Given the description of an element on the screen output the (x, y) to click on. 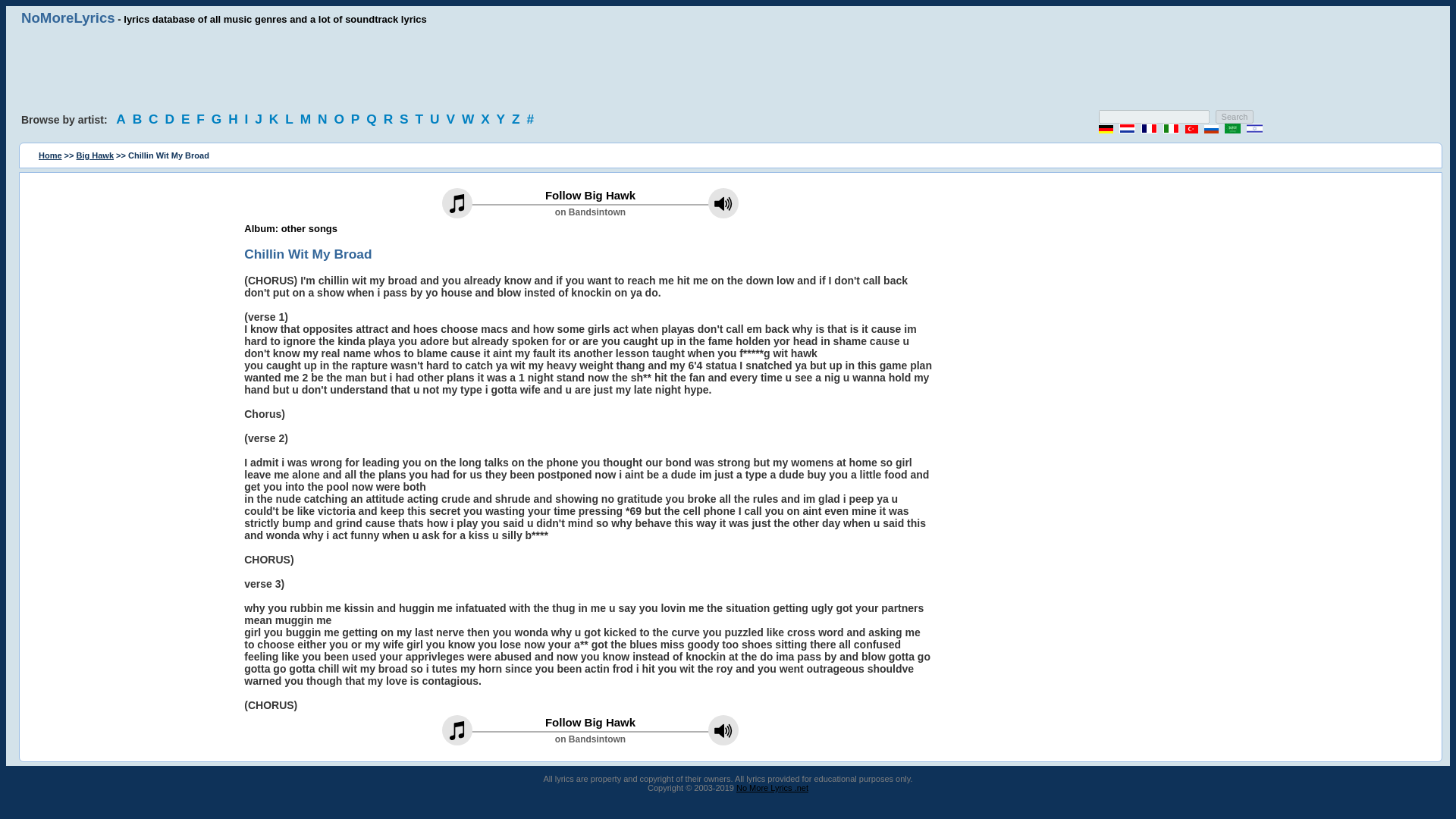
NoMoreLyrics (68, 17)
N (324, 118)
Search (1234, 116)
Search (1234, 116)
H (234, 118)
Big Hawk (96, 154)
R (390, 118)
M (306, 118)
C (154, 118)
Song lyrics and soundtrack lyrics, starting with O (340, 118)
Song lyrics and soundtrack lyrics, starting with D (170, 118)
Song lyrics and soundtrack lyrics, starting with B (139, 118)
Song lyrics and soundtrack lyrics, starting with H (234, 118)
Song lyrics and soundtrack lyrics, starting with G (218, 118)
Song lyrics and soundtrack lyrics, starting with Q (373, 118)
